Given the description of an element on the screen output the (x, y) to click on. 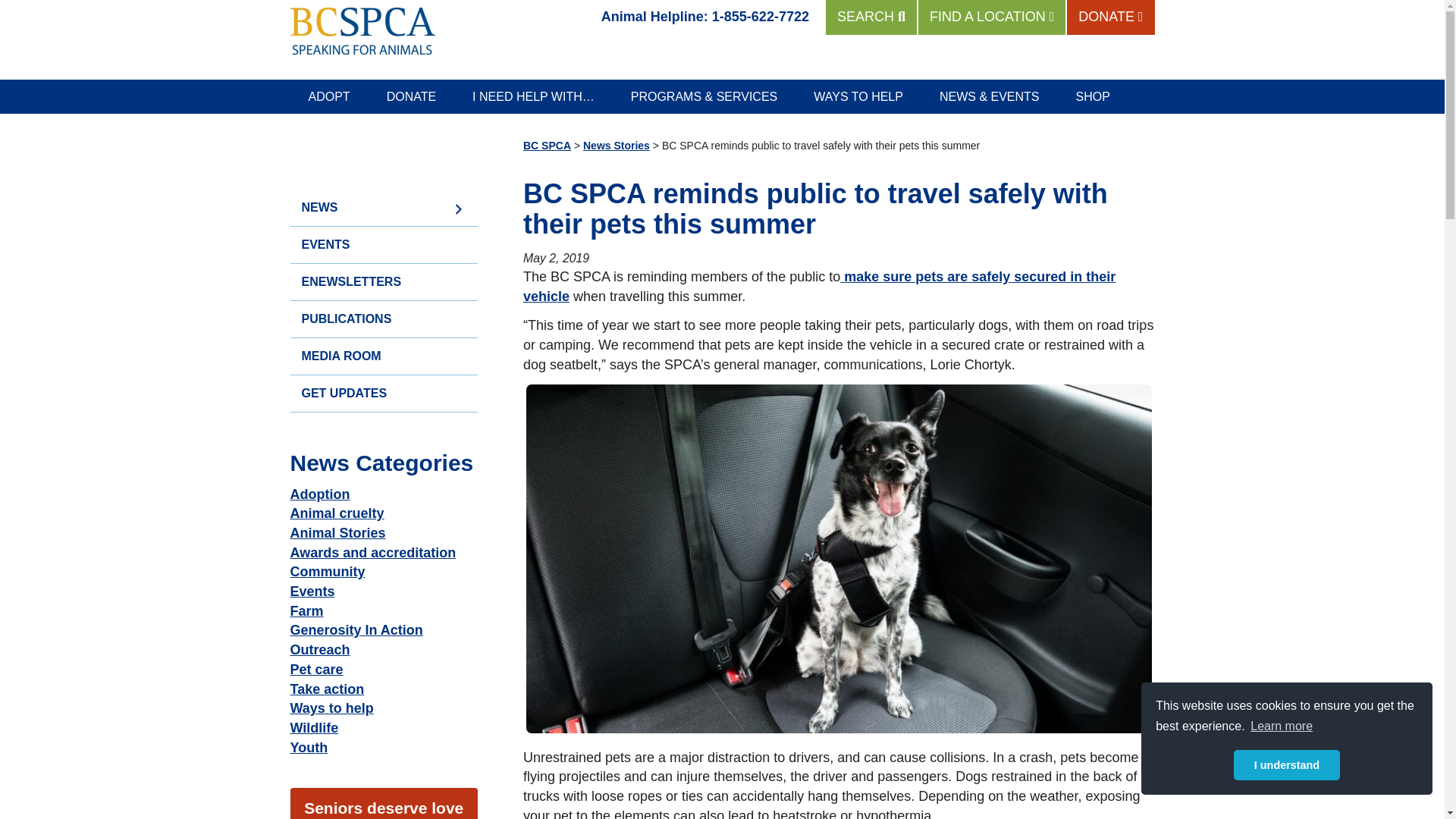
Donate (411, 96)
FIND A LOCATION (991, 17)
ADOPT (328, 96)
DONATE (411, 96)
I understand (1286, 765)
DONATE (1110, 17)
Adopt (328, 96)
SEARCH (871, 17)
Learn more (1280, 725)
